Given the description of an element on the screen output the (x, y) to click on. 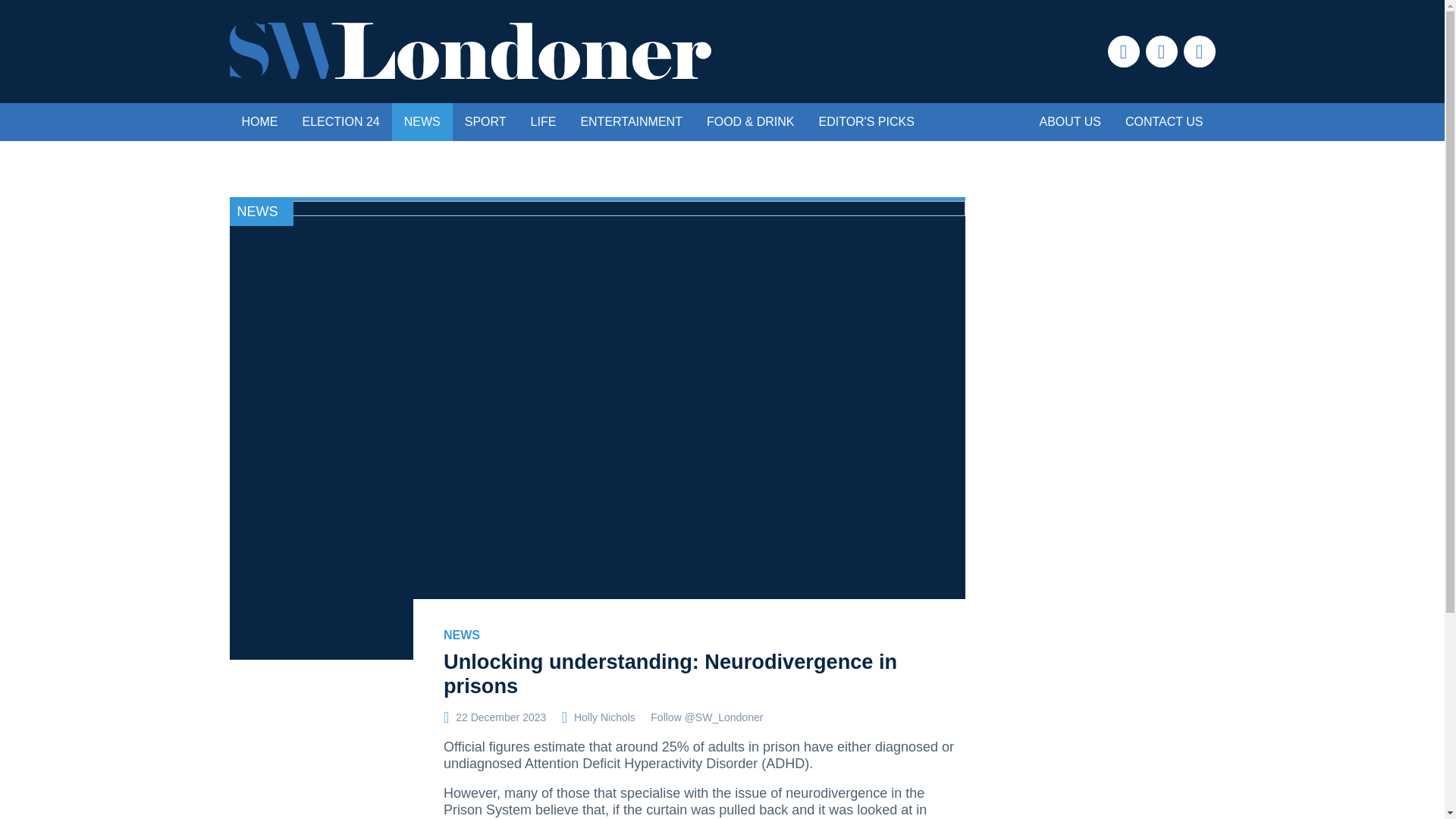
Election 24 (340, 121)
News (421, 121)
Sport (485, 121)
Home (258, 121)
About us (1069, 121)
Life (543, 121)
SPORT (485, 121)
Twitter (1198, 51)
ELECTION 24 (340, 121)
HOME (258, 121)
LIFE (543, 121)
ENTERTAINMENT (630, 121)
Contact us (1164, 121)
Editor's Picks (866, 121)
CONTACT US (1164, 121)
